Given the description of an element on the screen output the (x, y) to click on. 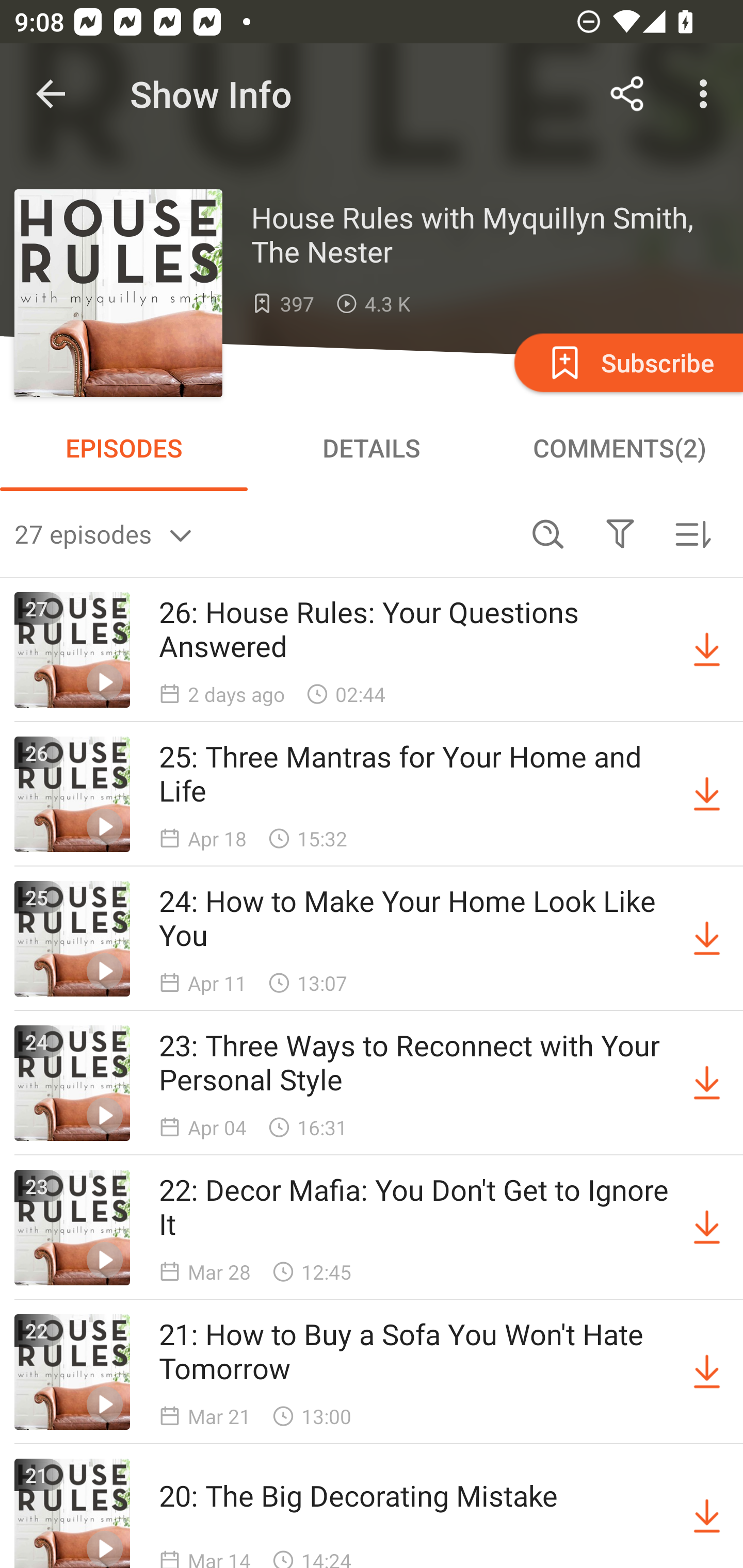
Navigate up (50, 93)
Share (626, 93)
More options (706, 93)
Subscribe (627, 361)
EPISODES (123, 447)
DETAILS (371, 447)
COMMENTS(2) (619, 447)
27 episodes  (262, 533)
 Search (547, 533)
 (619, 533)
 Sorted by newest first (692, 533)
Download (706, 649)
Download (706, 793)
Download (706, 939)
Download (706, 1083)
Download (706, 1227)
Download (706, 1371)
Download (706, 1513)
